Given the description of an element on the screen output the (x, y) to click on. 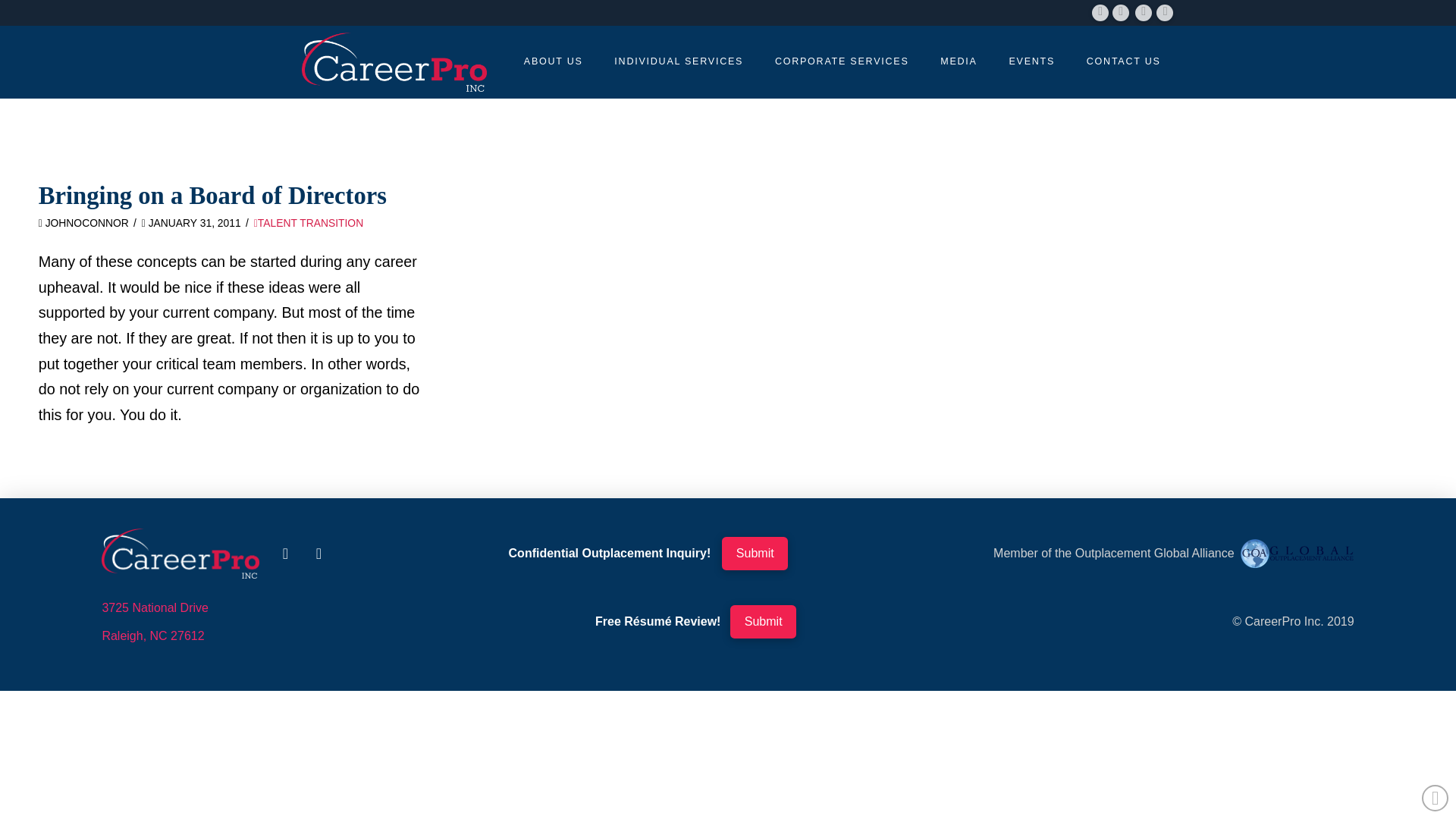
Permalink to: "Bringing on a Board of Directors" (213, 195)
EVENTS (1031, 61)
TALENT TRANSITION (307, 223)
CONTACT US (1123, 61)
Submit (763, 621)
Back to Top (1435, 797)
INDIVIDUAL SERVICES (678, 61)
Bringing on a Board of Directors (213, 195)
ABOUT US (552, 61)
MEDIA (958, 61)
Events (1031, 61)
CORPORATE SERVICES (840, 61)
Submit (754, 553)
